Given the description of an element on the screen output the (x, y) to click on. 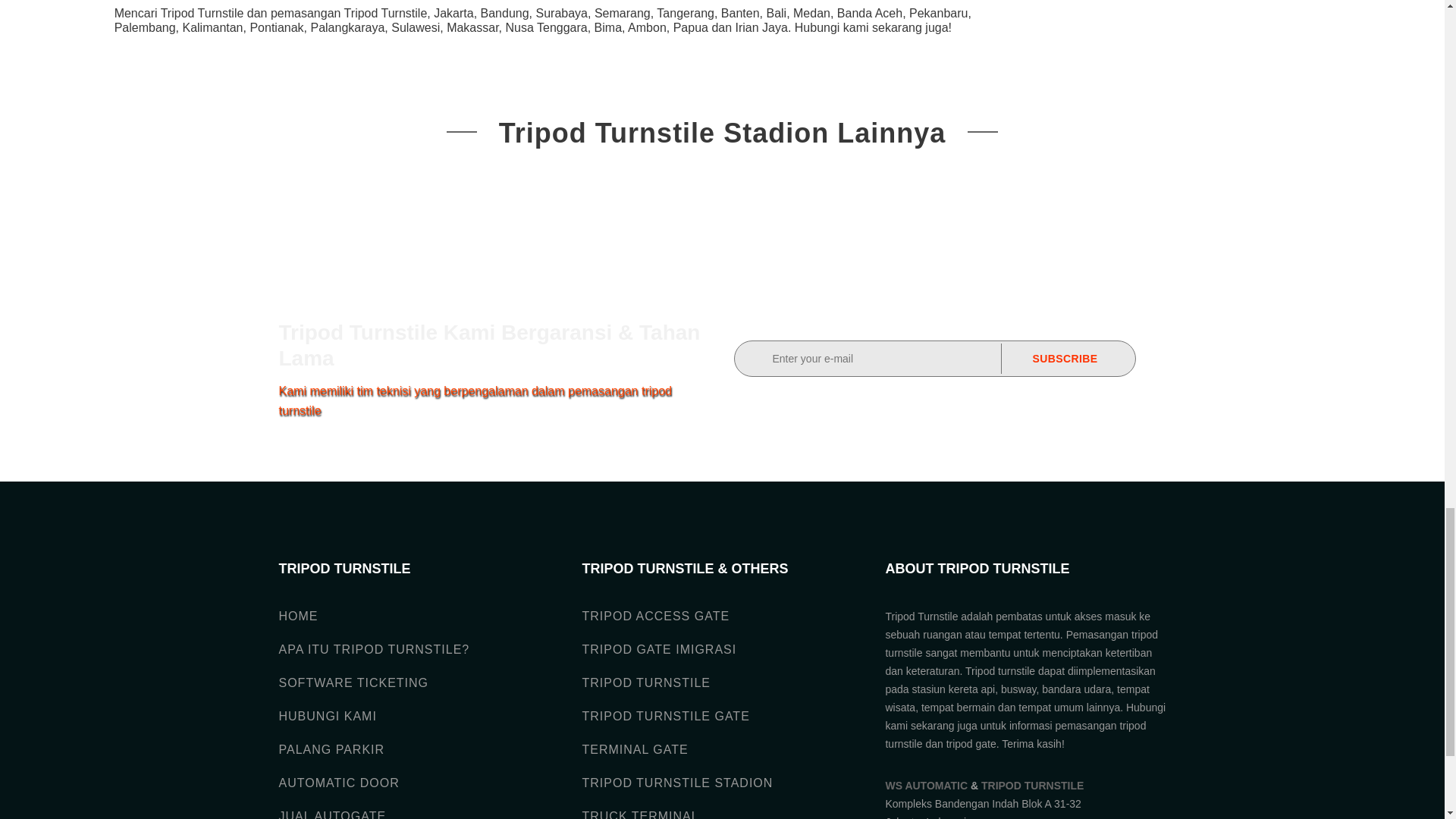
Banda Aceh (869, 12)
Bandung (504, 12)
Palembang (145, 27)
Subscribe (1065, 358)
Kalimantan (212, 27)
Palangkaraya (347, 27)
Banten (740, 12)
Pontianak (275, 27)
Jakarta (453, 12)
Semarang (622, 12)
Bali (775, 12)
Medan (811, 12)
Surabaya (561, 12)
Pekanbaru (938, 12)
Tangerang (685, 12)
